Given the description of an element on the screen output the (x, y) to click on. 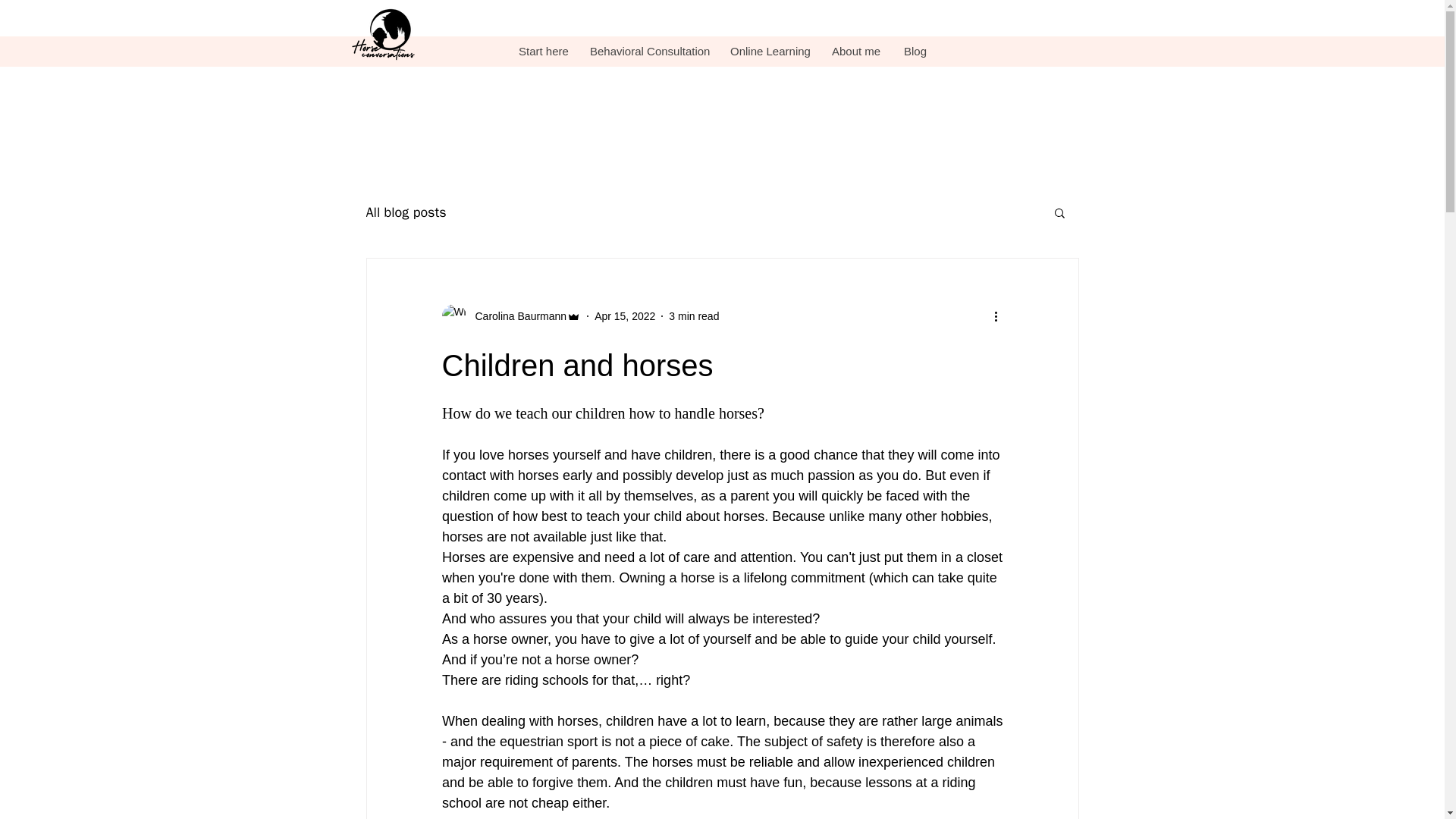
Blog (914, 51)
About me (855, 51)
Online Learning (768, 51)
Start here (542, 51)
Behavioral Consultation (647, 51)
Carolina Baurmann (515, 315)
Apr 15, 2022 (624, 315)
3 min read (693, 315)
Carolina Baurmann (510, 315)
All blog posts (405, 212)
